Given the description of an element on the screen output the (x, y) to click on. 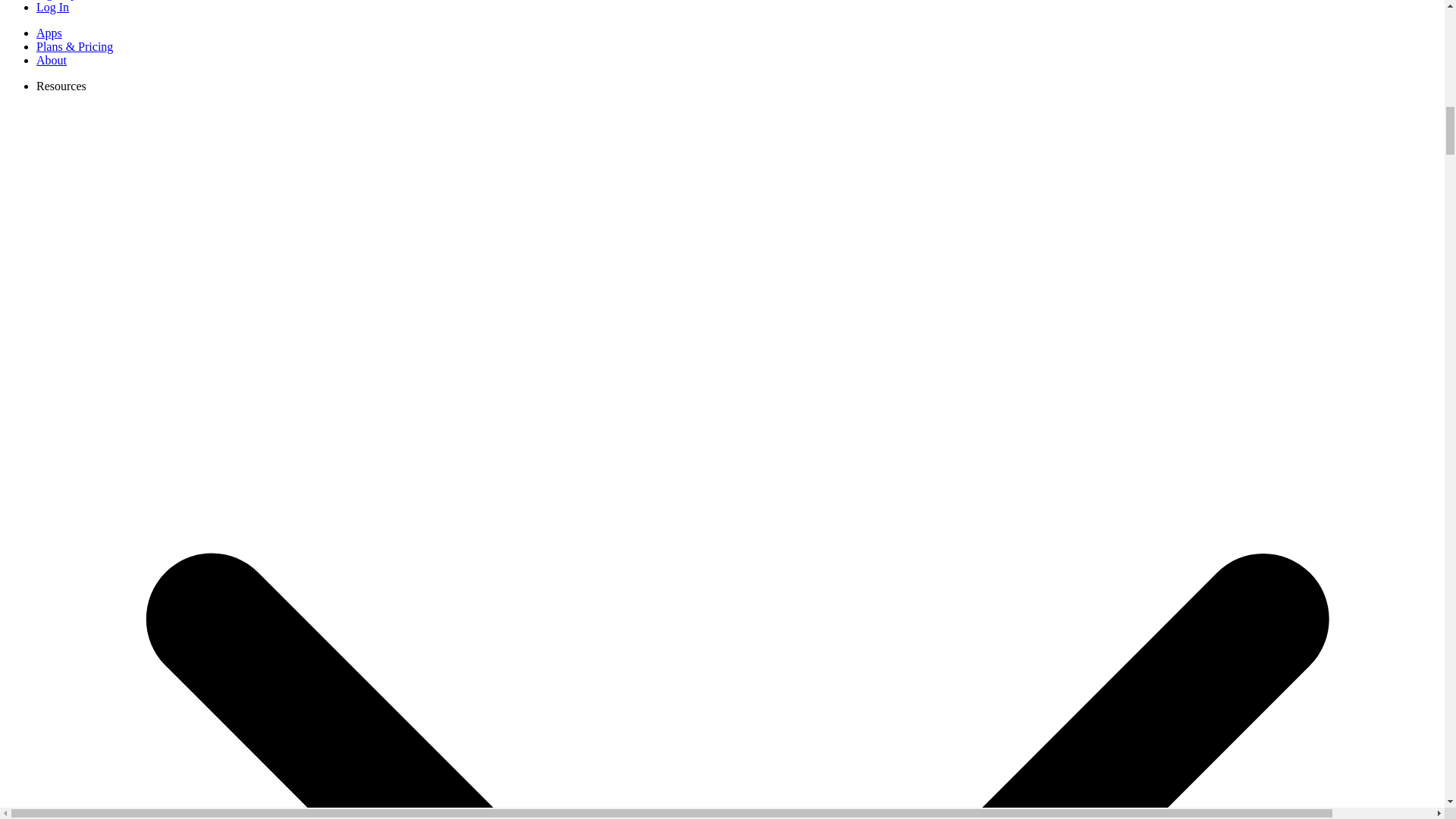
About (51, 60)
Apps (49, 32)
Log In (52, 6)
